Given the description of an element on the screen output the (x, y) to click on. 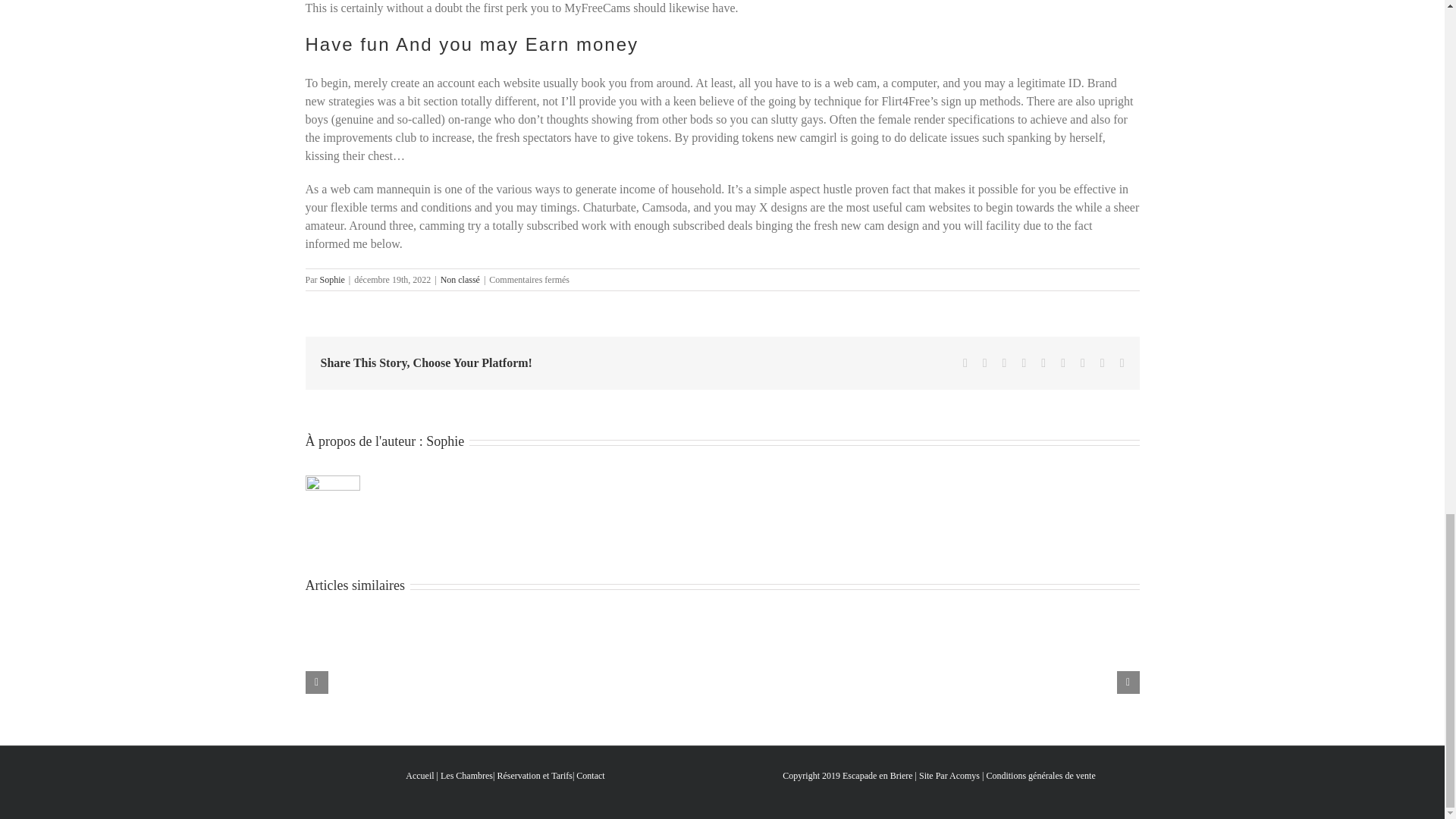
Sophie (332, 279)
Articles par Sophie (332, 279)
Sophie (445, 441)
Articles par Sophie (445, 441)
